Given the description of an element on the screen output the (x, y) to click on. 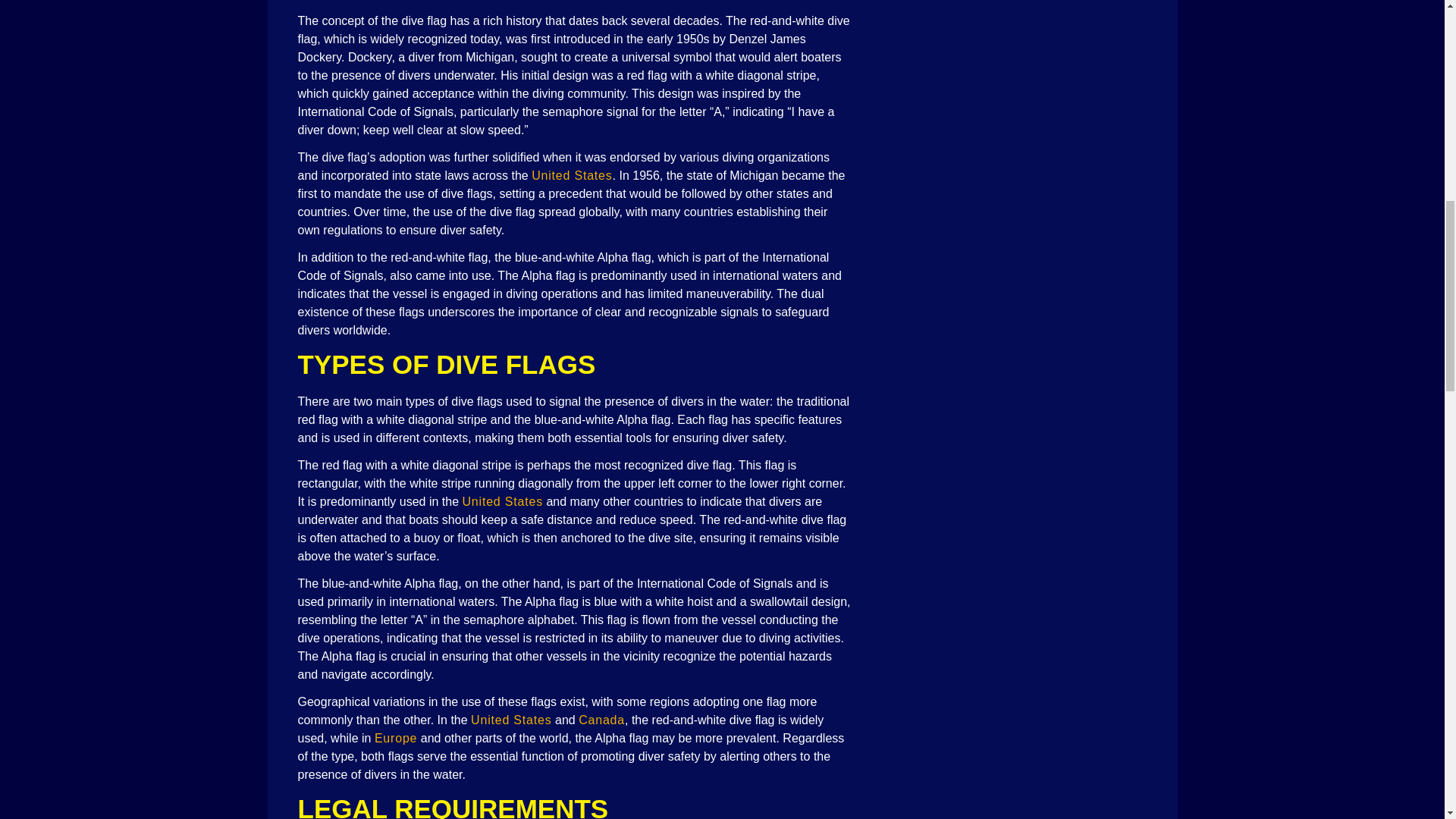
Europe (395, 738)
United States (510, 719)
United States (503, 501)
United States (571, 174)
Canada (601, 719)
